Given the description of an element on the screen output the (x, y) to click on. 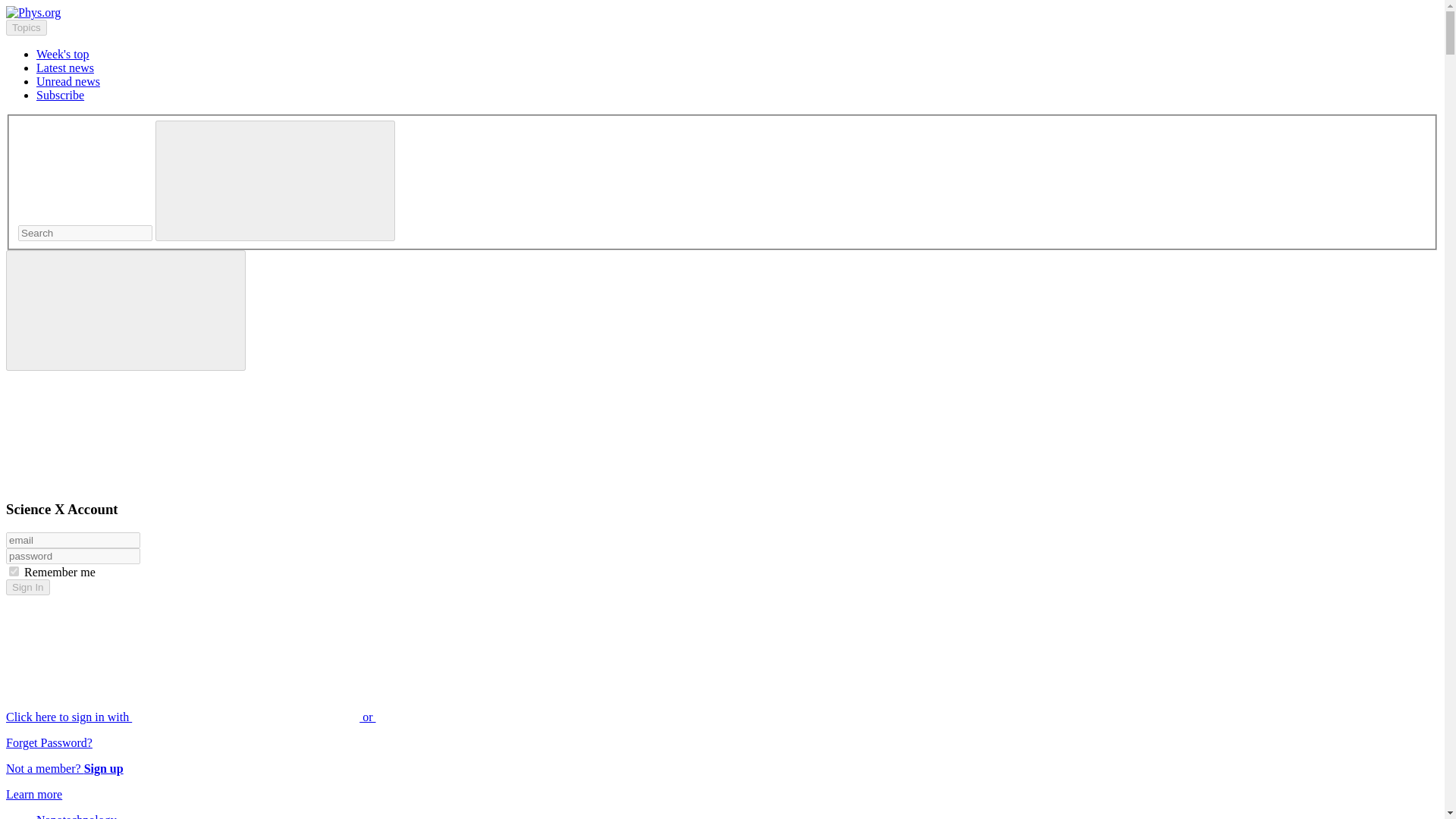
Subscribe (60, 94)
Not a member? Sign up (64, 768)
Sign In (27, 587)
Click here to sign in with or (304, 716)
Unread news (68, 81)
Forget Password? (49, 742)
Learn more (33, 793)
on (13, 571)
Nanotechnology (76, 816)
Topics (25, 27)
